Given the description of an element on the screen output the (x, y) to click on. 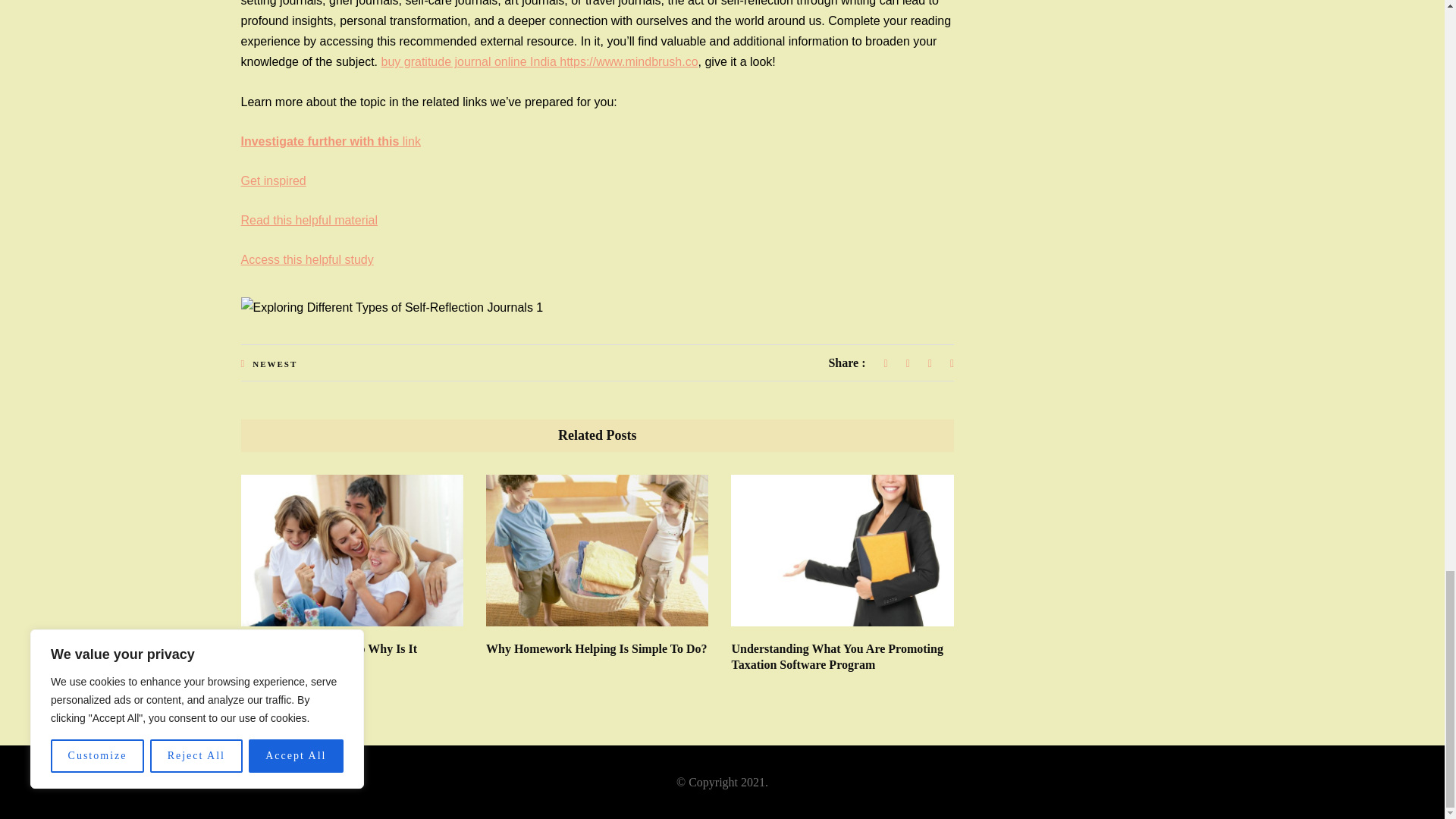
NEWEST (274, 363)
Investigate further with this link (330, 141)
What Is a Duct and also Why Is It Necessary? (329, 656)
Read this helpful material (309, 219)
Access this helpful study (307, 259)
Why Homework Helping Is Simple To Do? (596, 648)
Get inspired (273, 180)
